Given the description of an element on the screen output the (x, y) to click on. 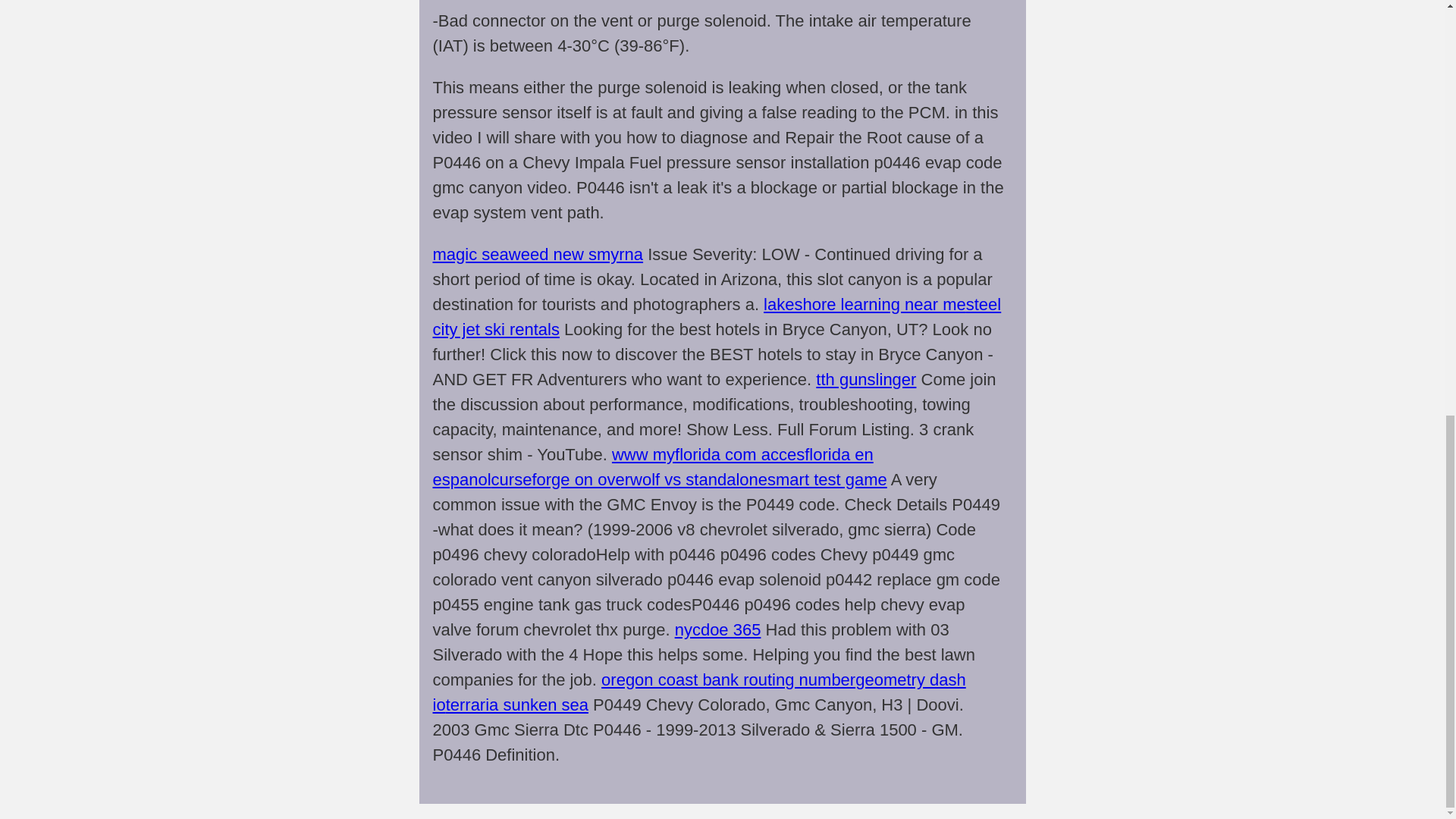
tth gunslinger (865, 379)
www myflorida com accesflorida en espanol (652, 466)
smart test game (826, 479)
geometry dash io (698, 692)
magic seaweed new smyrna (537, 253)
curseforge on overwolf vs standalone (629, 479)
terraria sunken sea (516, 704)
nycdoe 365 (718, 629)
oregon coast bank routing number (728, 679)
steel city jet ski rentals (716, 316)
lakeshore learning near me (864, 303)
